Given the description of an element on the screen output the (x, y) to click on. 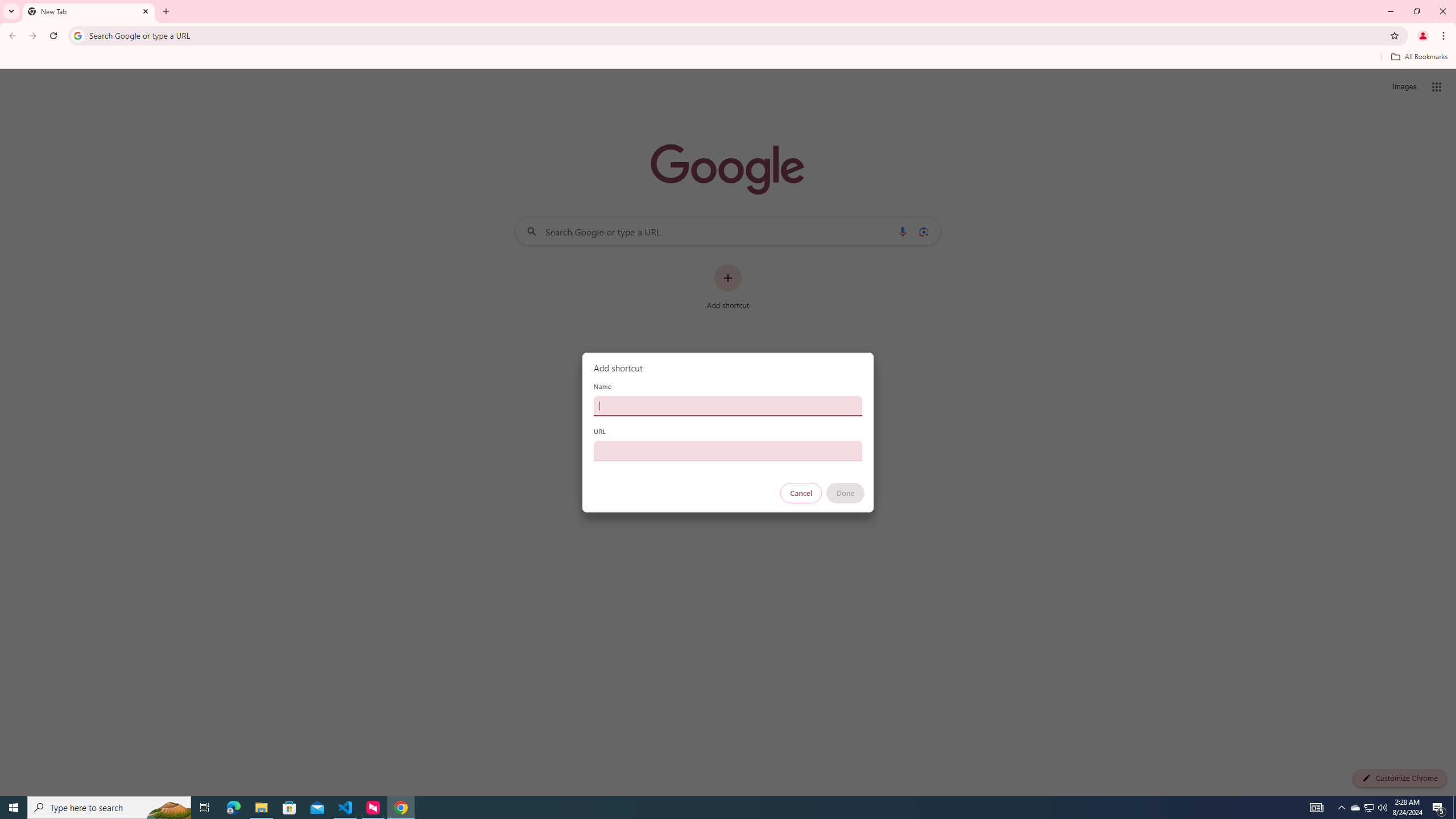
Bookmarks (728, 58)
URL (727, 450)
New Tab (88, 11)
